Given the description of an element on the screen output the (x, y) to click on. 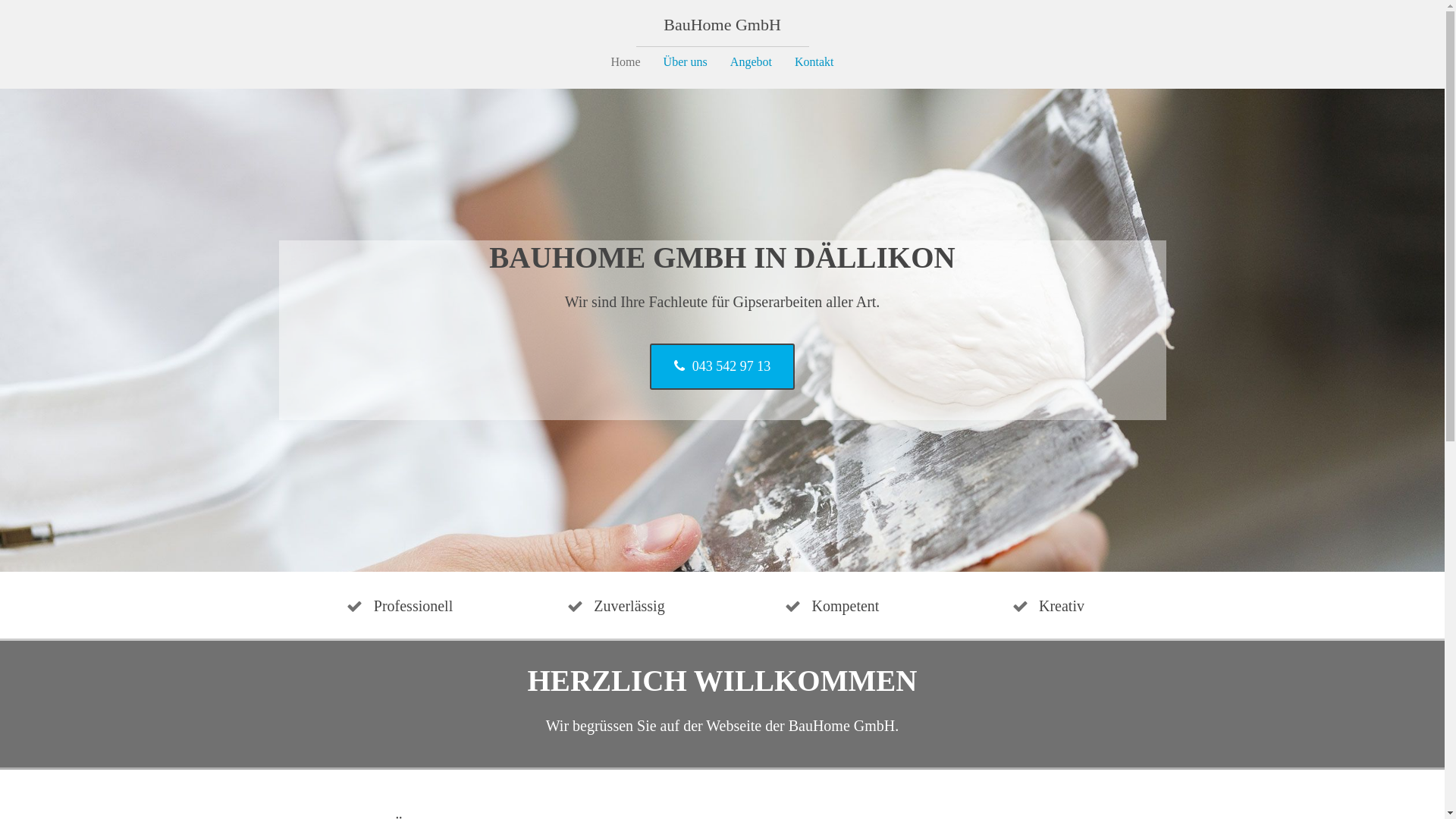
Kontakt Element type: text (814, 61)
Angebot Element type: text (750, 61)
043 542 97 13 Element type: text (722, 366)
Home Element type: text (625, 61)
BauHome GmbH Element type: text (722, 24)
